Given the description of an element on the screen output the (x, y) to click on. 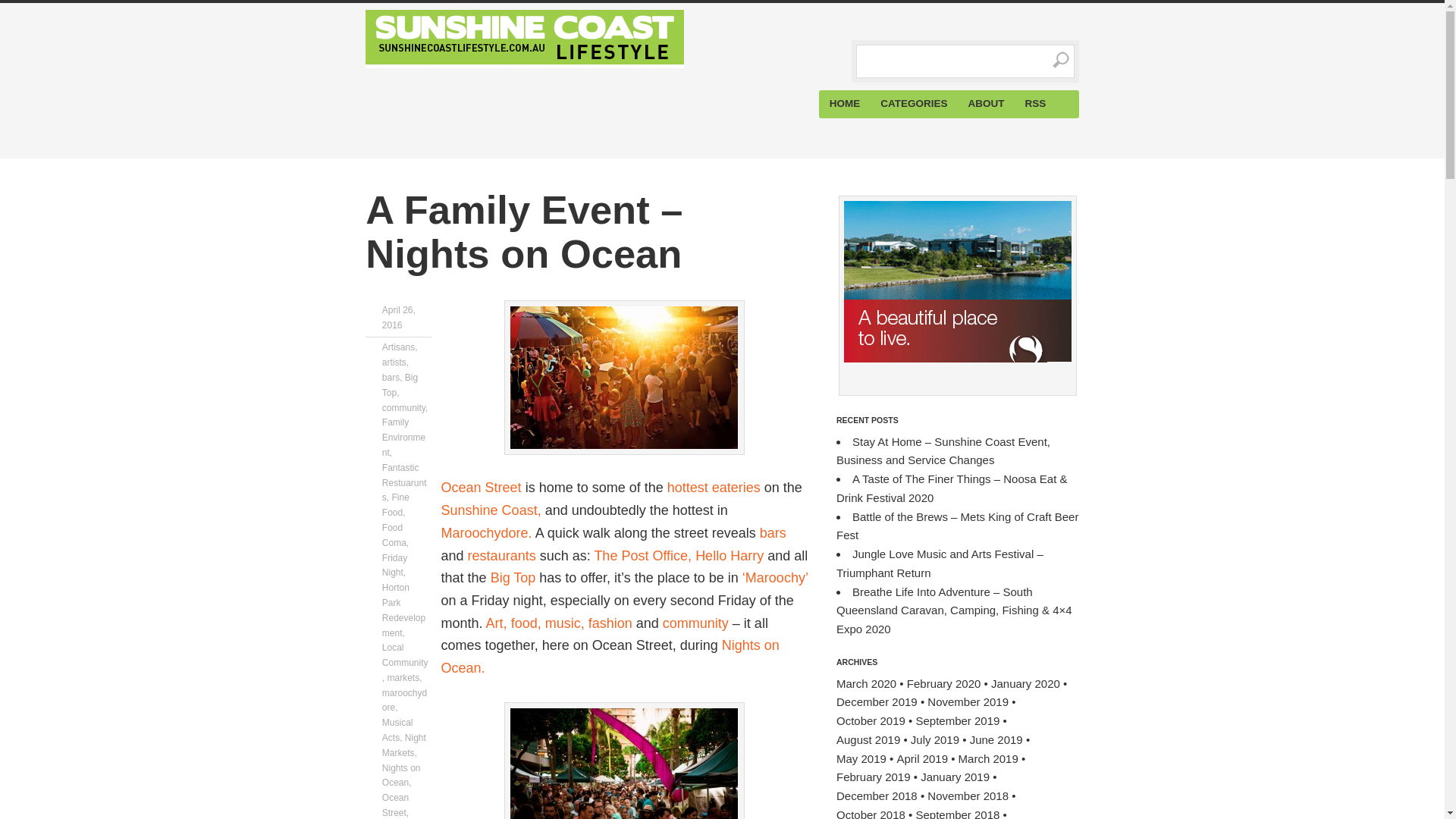
Family Environment (403, 436)
Fantastic Restuarunts (403, 482)
bars (389, 377)
Ocean Street (395, 805)
hottest eateries (713, 487)
artists (393, 362)
CATEGORIES (914, 103)
Fine Food (395, 504)
Big Top (399, 385)
markets (403, 677)
Friday Night (394, 565)
Local Community (404, 655)
Night Markets (403, 745)
Nights on Ocean (400, 775)
Artisans (397, 347)
